Given the description of an element on the screen output the (x, y) to click on. 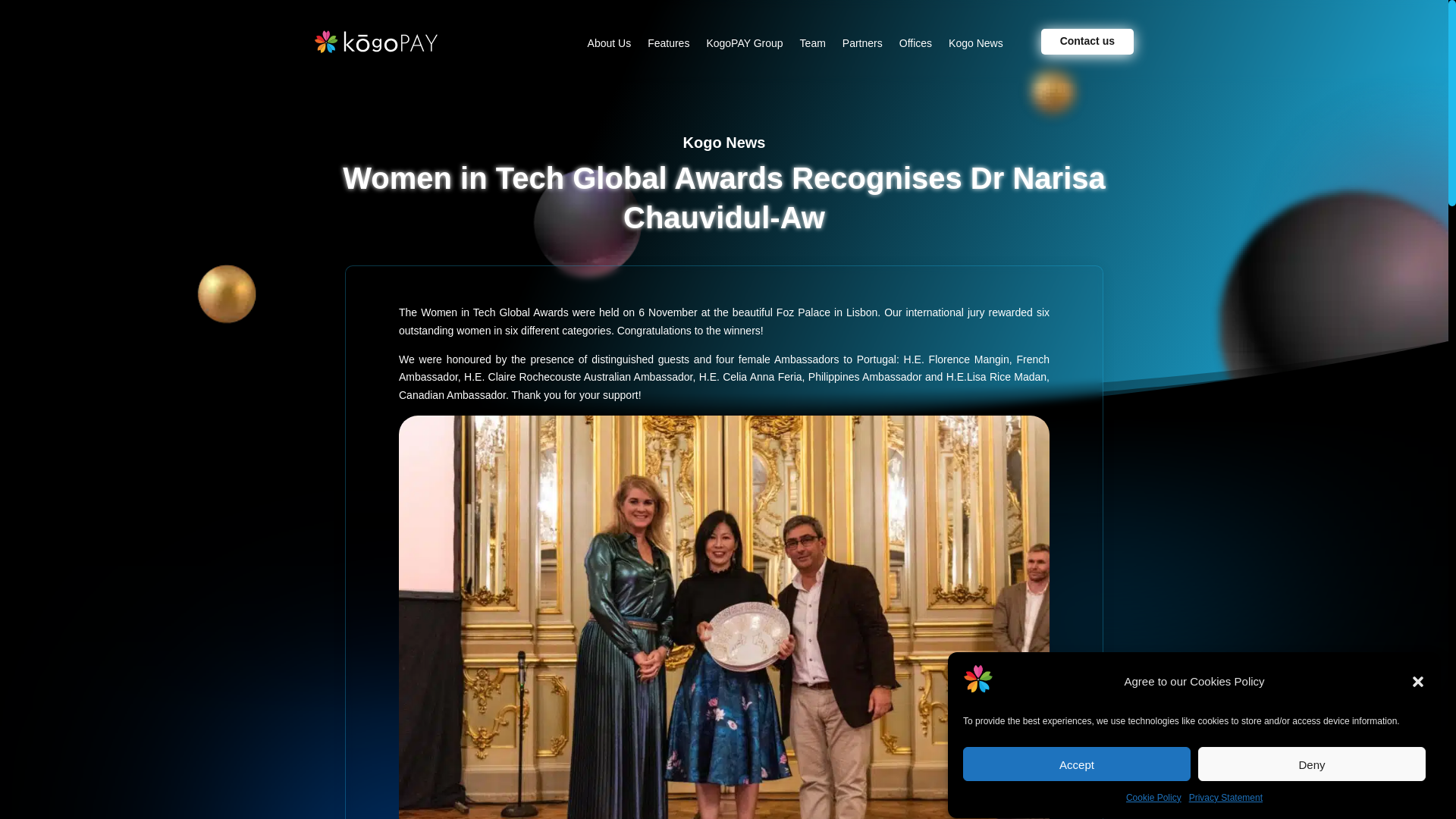
About Us (609, 45)
Deny (1311, 776)
Kogo News (976, 45)
Team (812, 45)
Cookie Policy (1152, 800)
KogoPAY Group (744, 45)
Offices (915, 45)
Accept (1076, 781)
Features (667, 45)
Contact us (1087, 41)
